Given the description of an element on the screen output the (x, y) to click on. 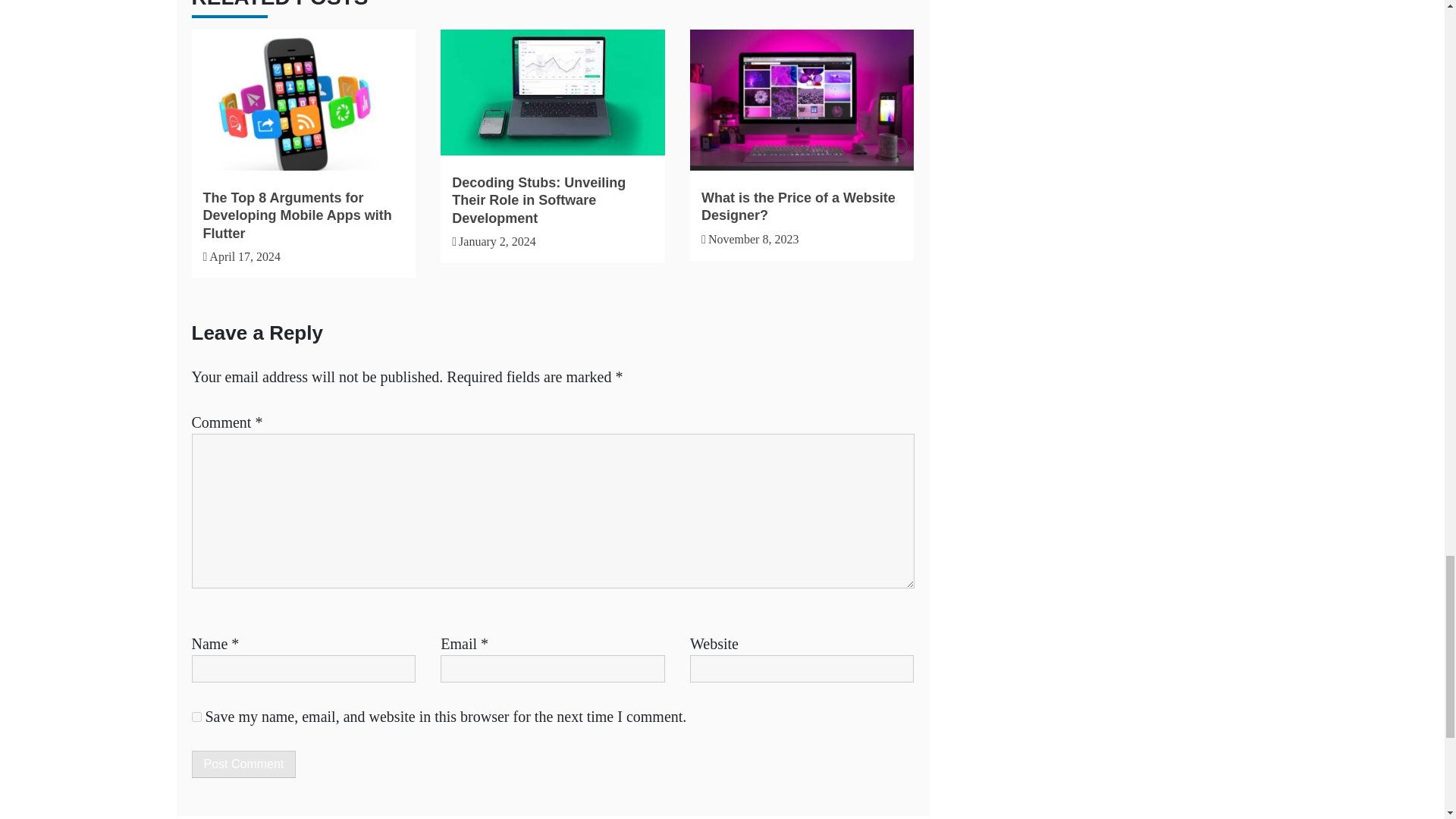
April 17, 2024 (245, 256)
Post Comment (242, 764)
The Top 8 Arguments for Developing Mobile Apps with Flutter (297, 215)
yes (195, 716)
